Given the description of an element on the screen output the (x, y) to click on. 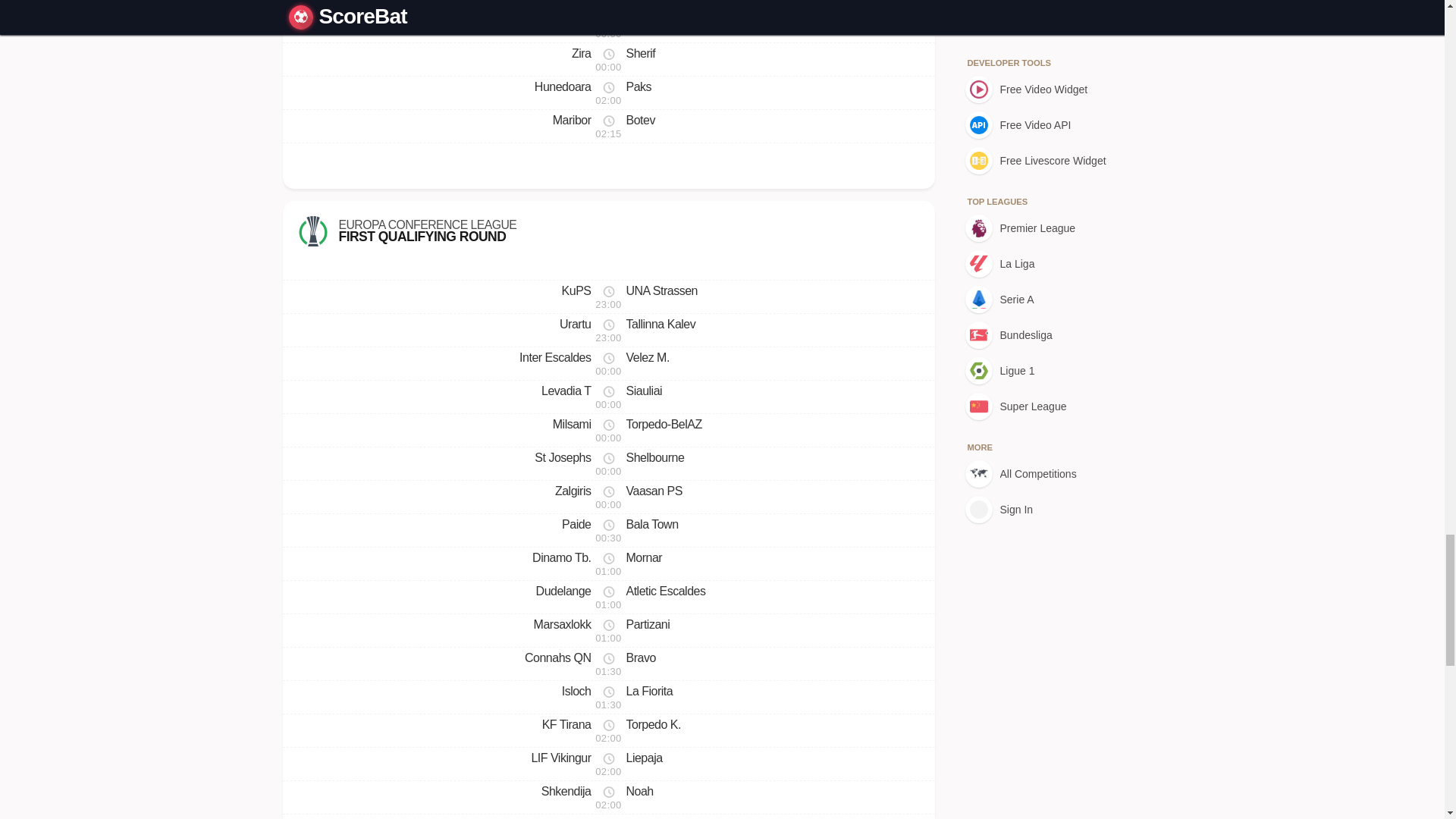
Paide - Bala Town Live (608, 530)
Maribor - Botev Live (608, 59)
Hunedoara - Paks Live (608, 125)
Urartu - Tallinna Kalev Live (608, 92)
Dinamo Tb. - Mornar Live (608, 329)
Milsami - Torpedo-BelAZ Live (608, 563)
Tobol - Ruzomberok Live (607, 231)
Levadia T - Siauliai Live (608, 430)
Zira - Sherif Live (608, 4)
Inter Escaldes - Velez M. Live (608, 92)
